Given the description of an element on the screen output the (x, y) to click on. 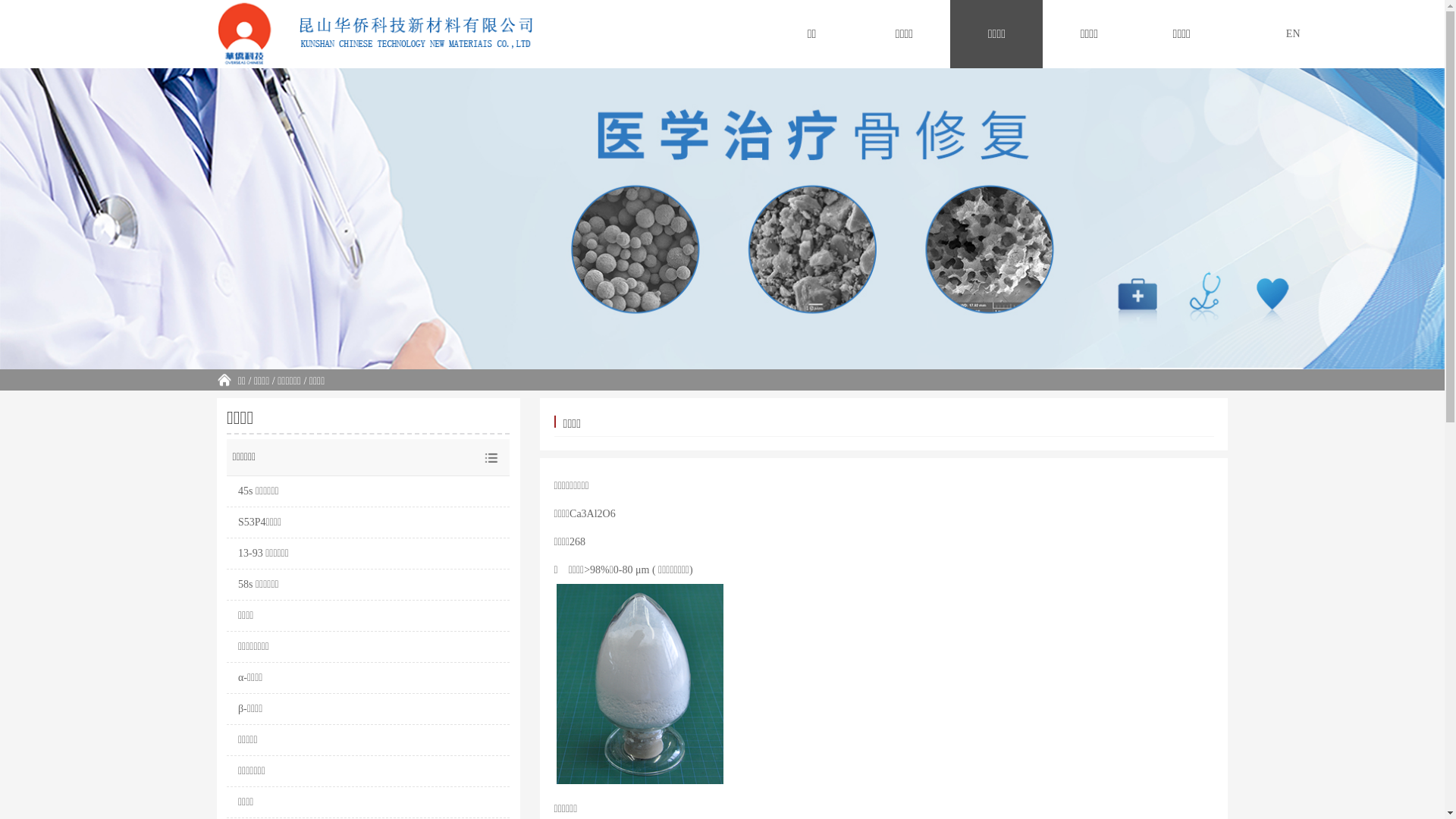
EN Element type: text (1293, 34)
